Given the description of an element on the screen output the (x, y) to click on. 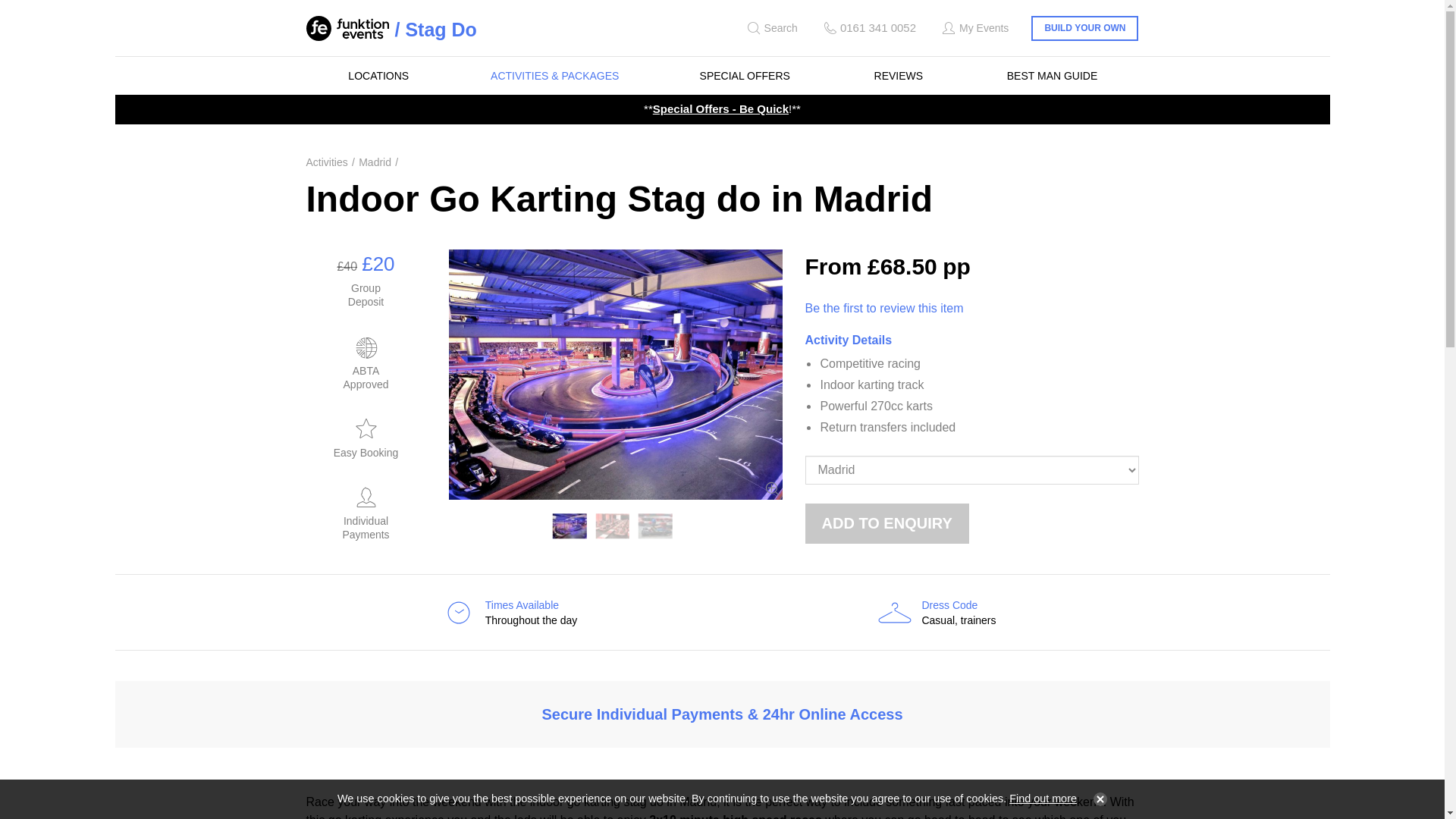
BEST MAN GUIDE (1052, 75)
Find event you are looking for (770, 28)
Indoor Go Karting Madrid (612, 525)
Indoor Go Karting Party (655, 525)
Search (770, 28)
0161 341 0052 (868, 28)
LOCATIONS (378, 75)
SPECIAL OFFERS (744, 75)
REVIEWS (898, 75)
Add to enquiry (887, 523)
My Events (974, 28)
Indoor Go Karting (569, 525)
Stag Do (435, 29)
